Given the description of an element on the screen output the (x, y) to click on. 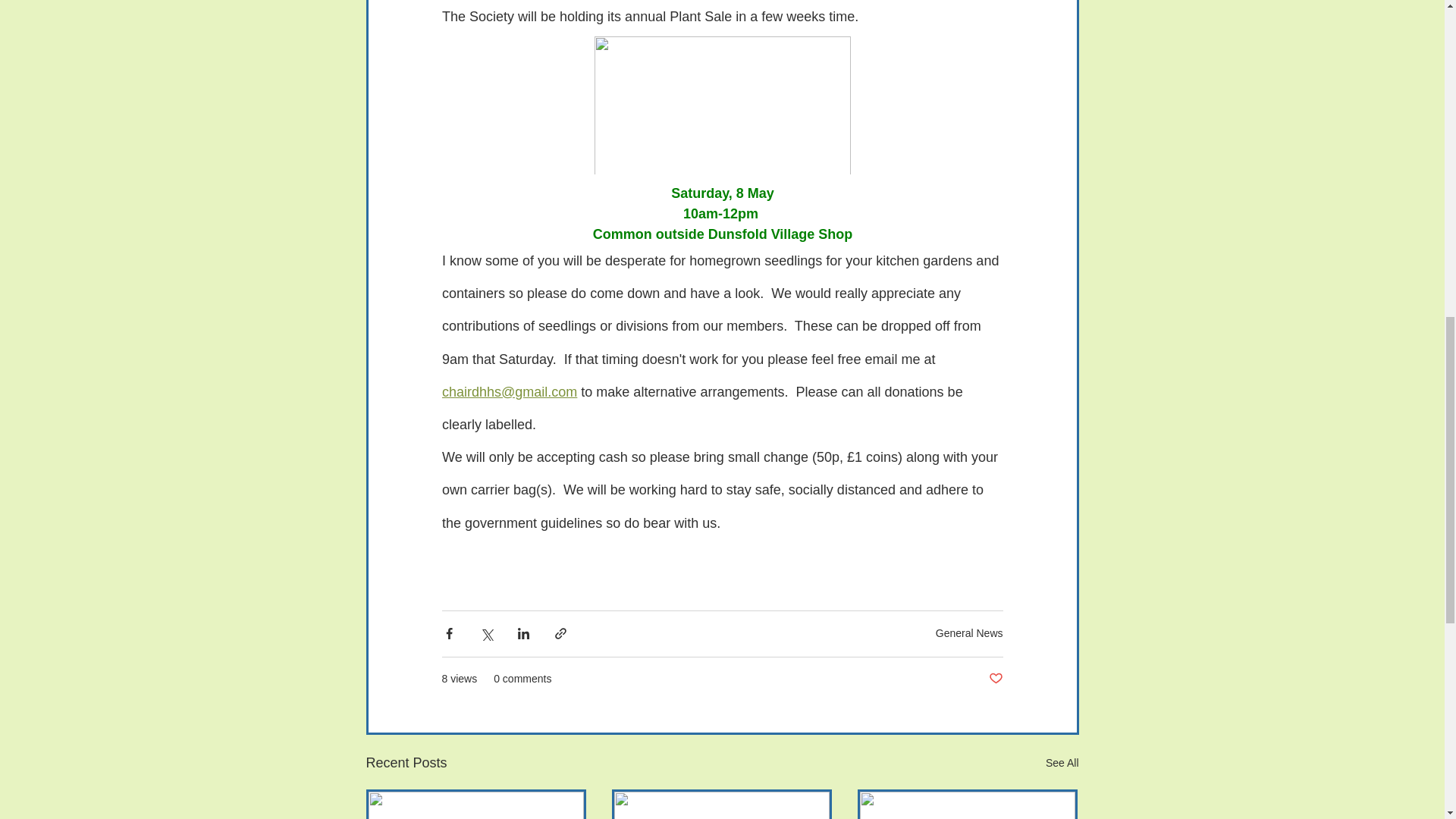
General News (969, 633)
See All (1061, 762)
Post not marked as liked (995, 678)
